Given the description of an element on the screen output the (x, y) to click on. 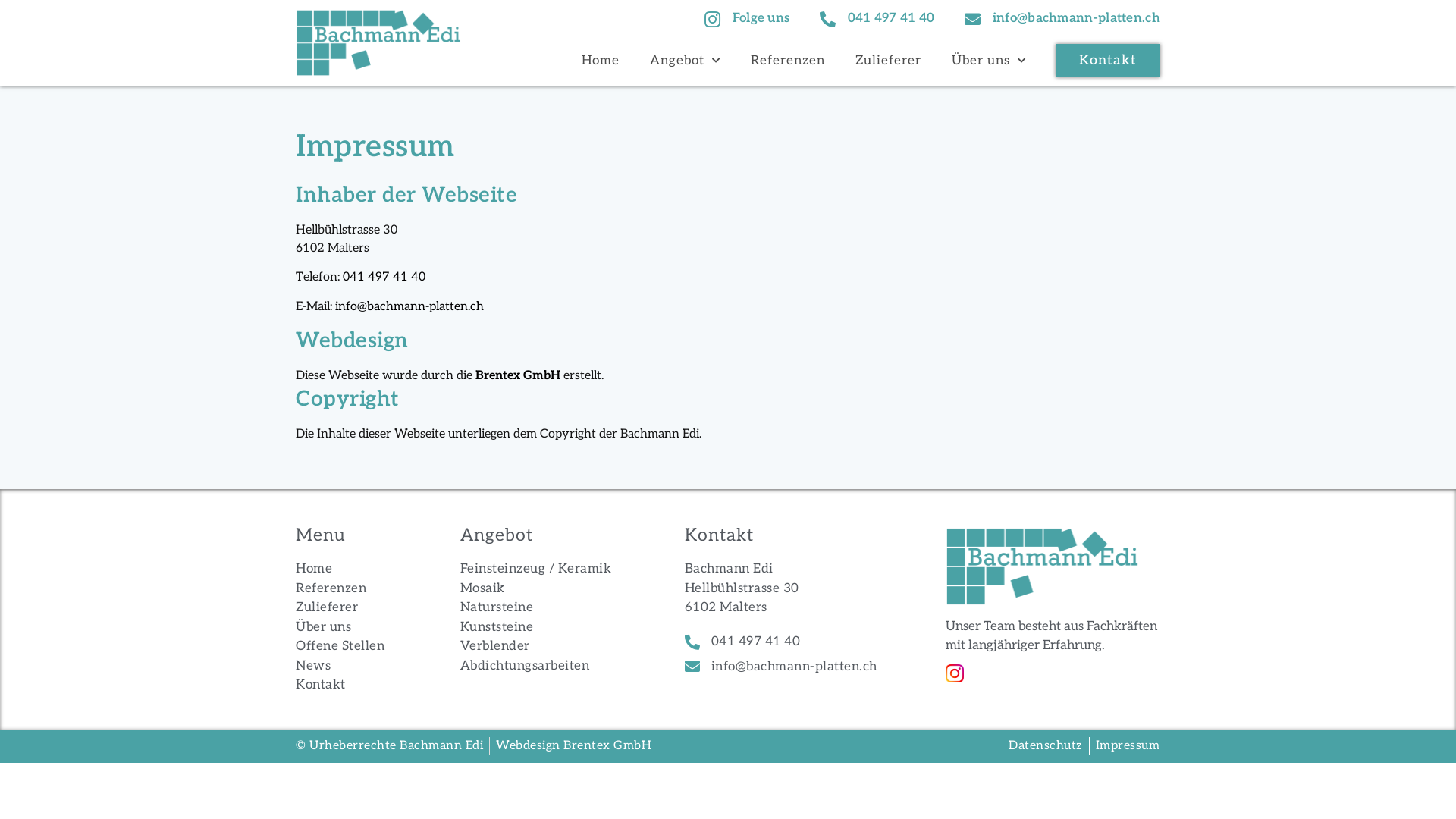
Home Element type: text (600, 60)
Referenzen Element type: text (343, 589)
041 497 41 40 Element type: text (788, 642)
Verblender Element type: text (545, 646)
041 497 41 40 Element type: text (874, 18)
Datenschutz Element type: text (1045, 746)
Feinsteinzeug / Keramik Element type: text (545, 569)
info@bachmann-platten.ch Element type: text (788, 667)
Abdichtungsarbeiten Element type: text (545, 666)
Offene Stellen Element type: text (343, 646)
info@bachmann-platten.ch Element type: text (409, 306)
Zulieferer Element type: text (888, 60)
Kunststeine Element type: text (545, 627)
041 497 41 40 Element type: text (383, 276)
Natursteine Element type: text (545, 608)
News Element type: text (343, 666)
Impressum Element type: text (1127, 746)
Folge uns Element type: text (744, 18)
Angebot Element type: text (684, 60)
Brentex GmbH Element type: text (517, 375)
Mosaik Element type: text (545, 589)
info@bachmann-platten.ch Element type: text (1060, 18)
Home Element type: text (343, 569)
Kontakt Element type: text (343, 685)
Kontakt Element type: text (1107, 60)
Webdesign Brentex GmbH Element type: text (573, 746)
Referenzen Element type: text (787, 60)
Zulieferer Element type: text (343, 608)
